Given the description of an element on the screen output the (x, y) to click on. 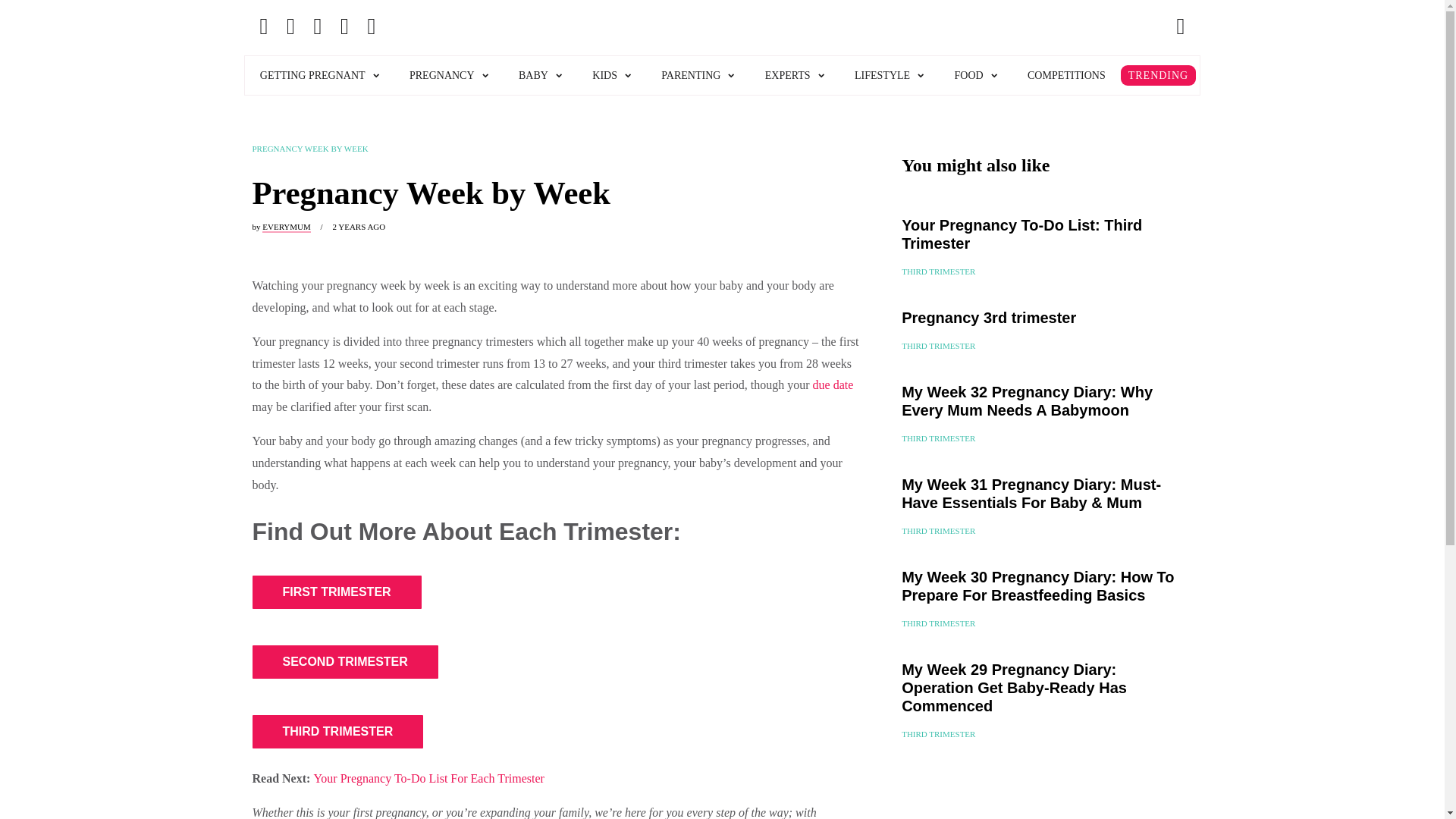
PARENTING (697, 75)
GETTING PREGNANT (319, 75)
PREGNANCY (448, 75)
BABY (539, 75)
KIDS (611, 75)
